Given the description of an element on the screen output the (x, y) to click on. 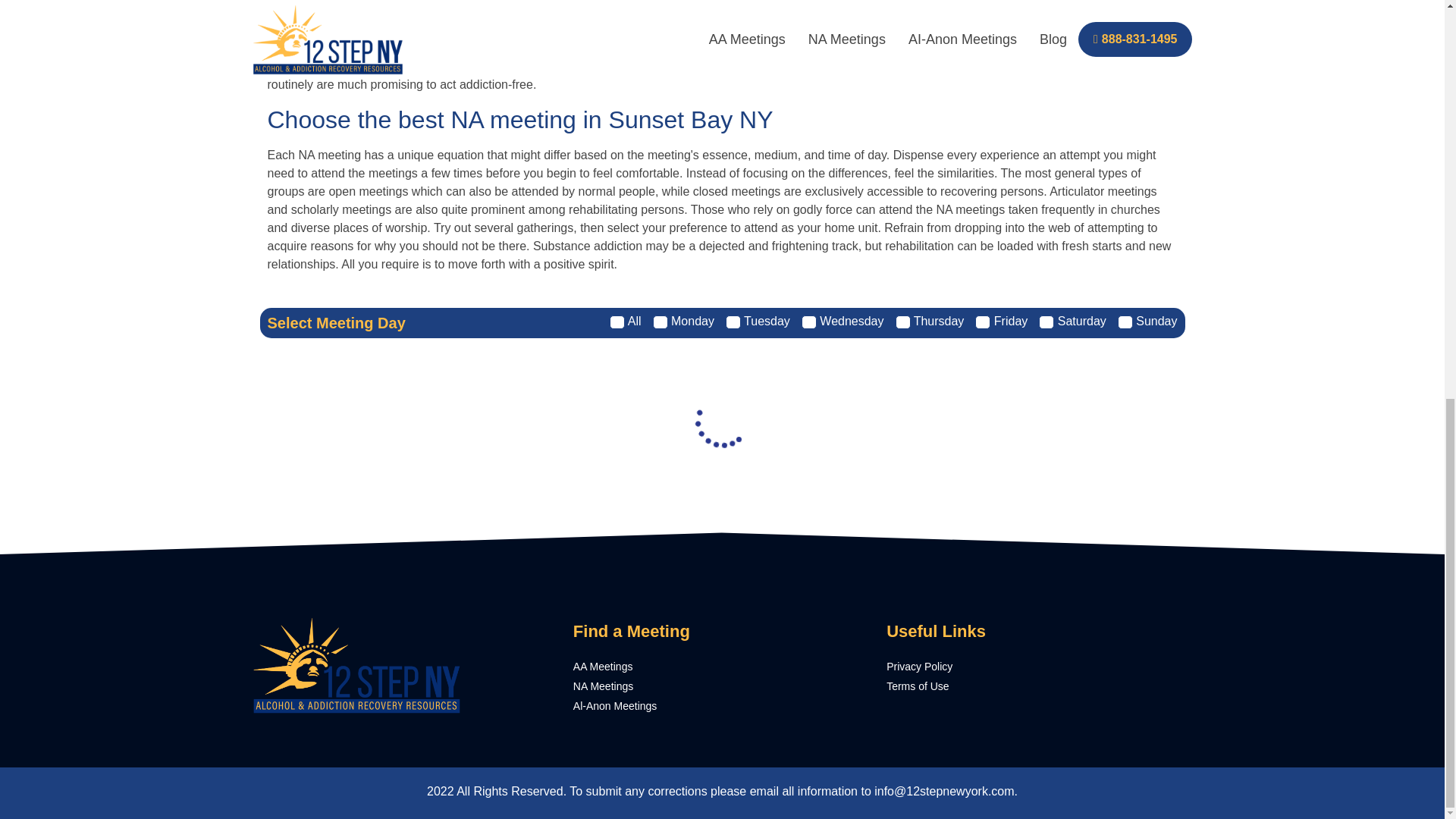
Terms of Use (1035, 686)
AA Meetings (721, 666)
Al-Anon Meetings (721, 706)
NA Meetings (721, 686)
Privacy Policy (1035, 666)
